Given the description of an element on the screen output the (x, y) to click on. 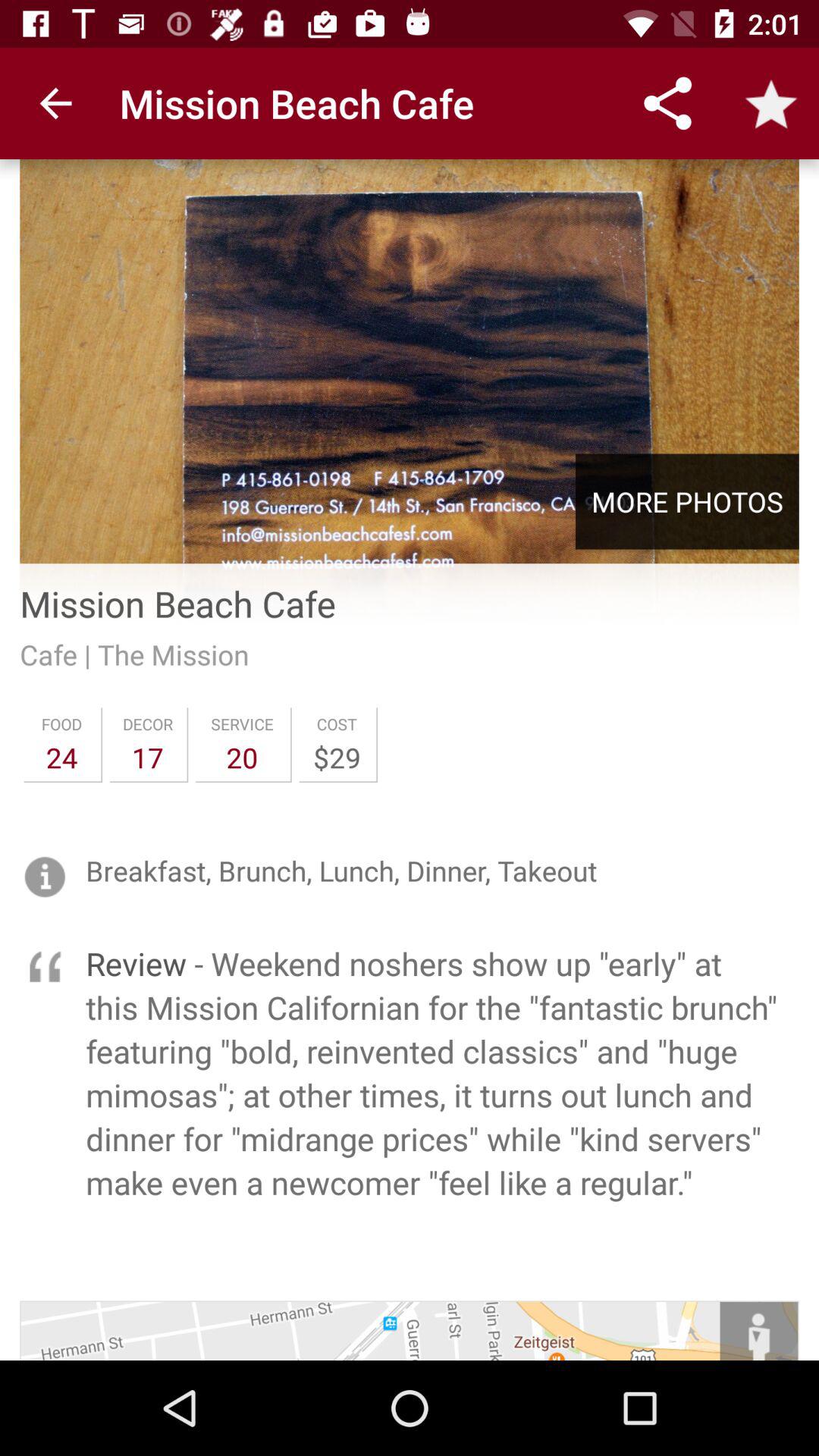
click item above the mission beach cafe (687, 501)
